Given the description of an element on the screen output the (x, y) to click on. 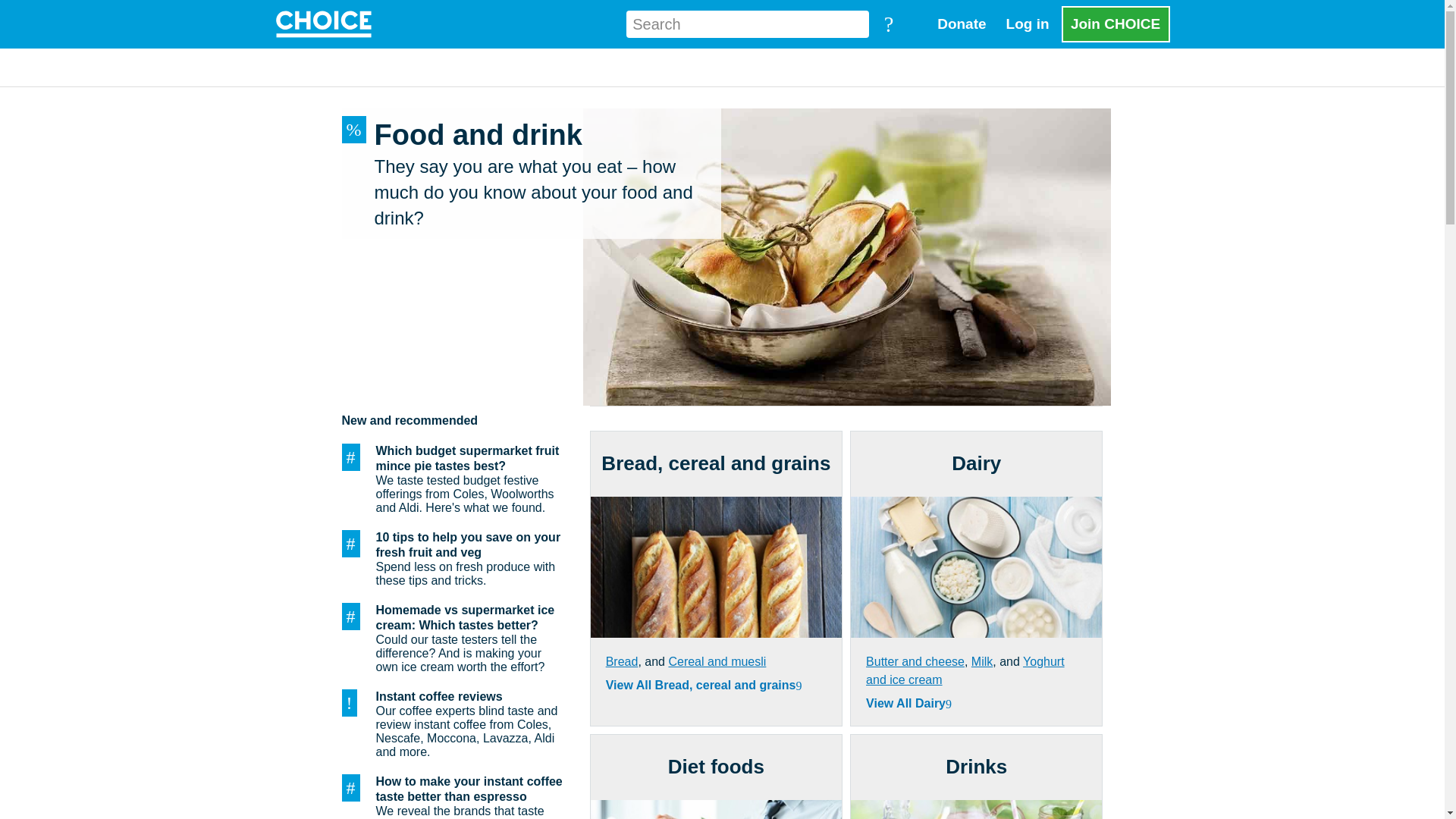
Dairy (976, 463)
Yoghurt and ice cream (965, 670)
Milk (981, 661)
Butter and cheese (914, 661)
Log in (1027, 24)
How to make your instant coffee taste better than espresso (453, 788)
Bread (622, 661)
Join CHOICE (1115, 23)
Which budget supermarket fruit mince pie tastes best? (453, 458)
Cereal and muesli (716, 661)
